Given the description of an element on the screen output the (x, y) to click on. 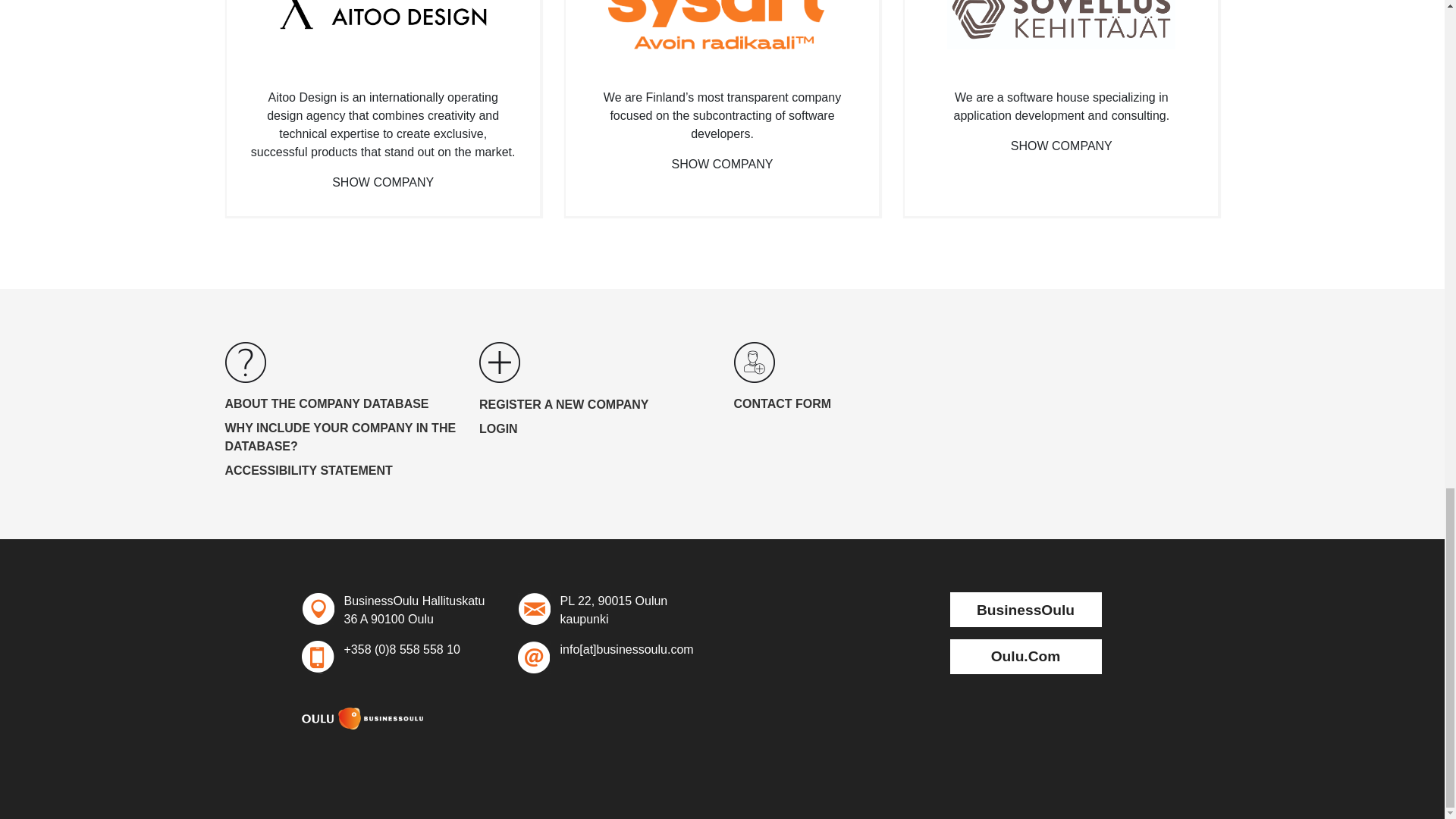
SHOW COMPANY (722, 164)
LOGIN (595, 429)
CONTACT FORM (849, 403)
WHY INCLUDE YOUR COMPANY IN THE DATABASE? (340, 437)
SHOW COMPANY (382, 182)
SHOW COMPANY (1061, 145)
ABOUT THE COMPANY DATABASE (340, 403)
REGISTER A NEW COMPANY (595, 404)
BusinessOulu (1024, 609)
ACCESSIBILITY STATEMENT (340, 470)
Oulu.Com (1024, 656)
